Given the description of an element on the screen output the (x, y) to click on. 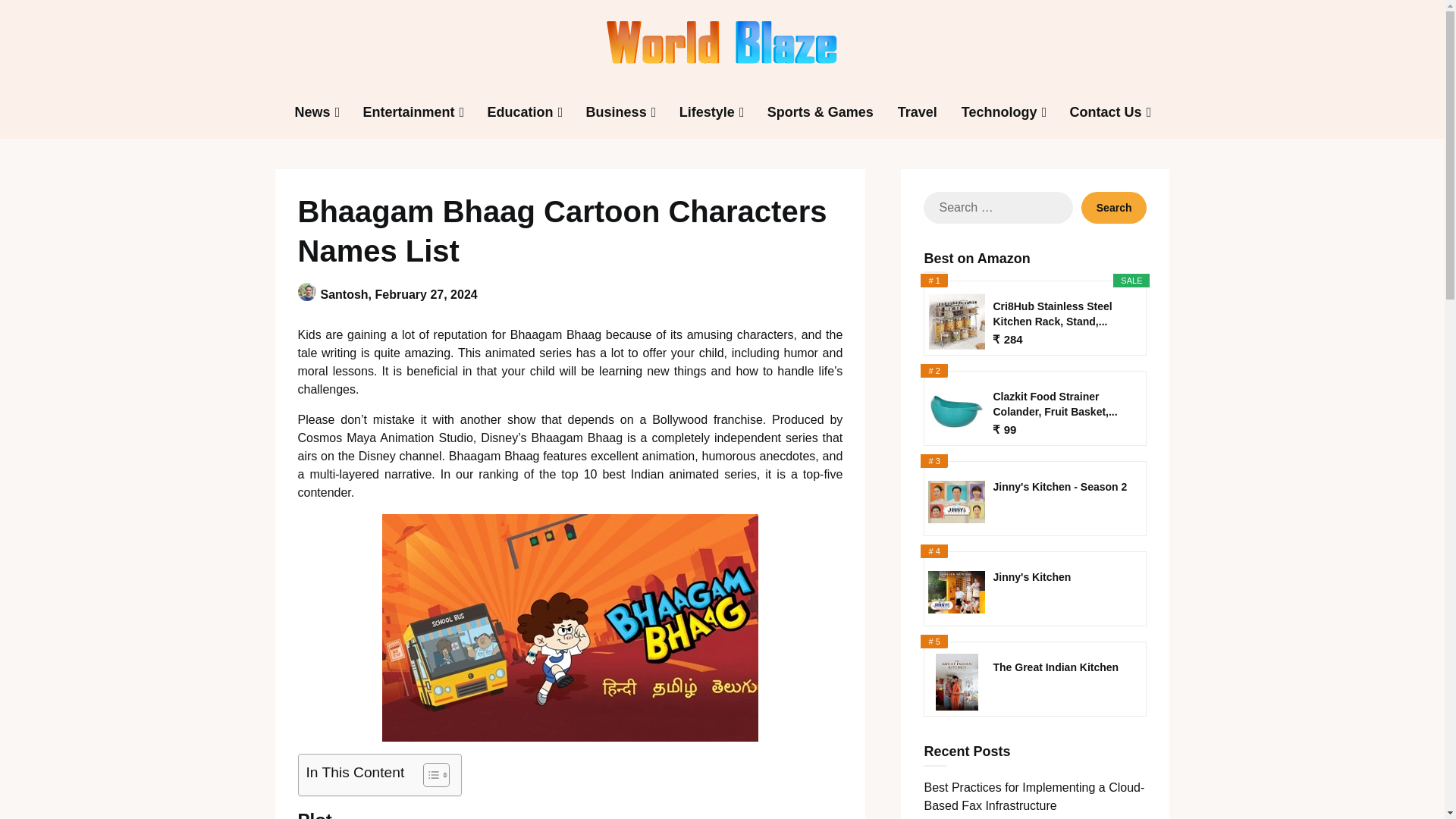
Search (1114, 207)
Search (1114, 207)
Technology (999, 112)
Lifestyle (706, 112)
Jinny's Kitchen (1063, 584)
Education (521, 112)
News (312, 112)
Business (616, 112)
Jinny's Kitchen - Season 2 (1063, 494)
Contact Us (1105, 112)
